Given the description of an element on the screen output the (x, y) to click on. 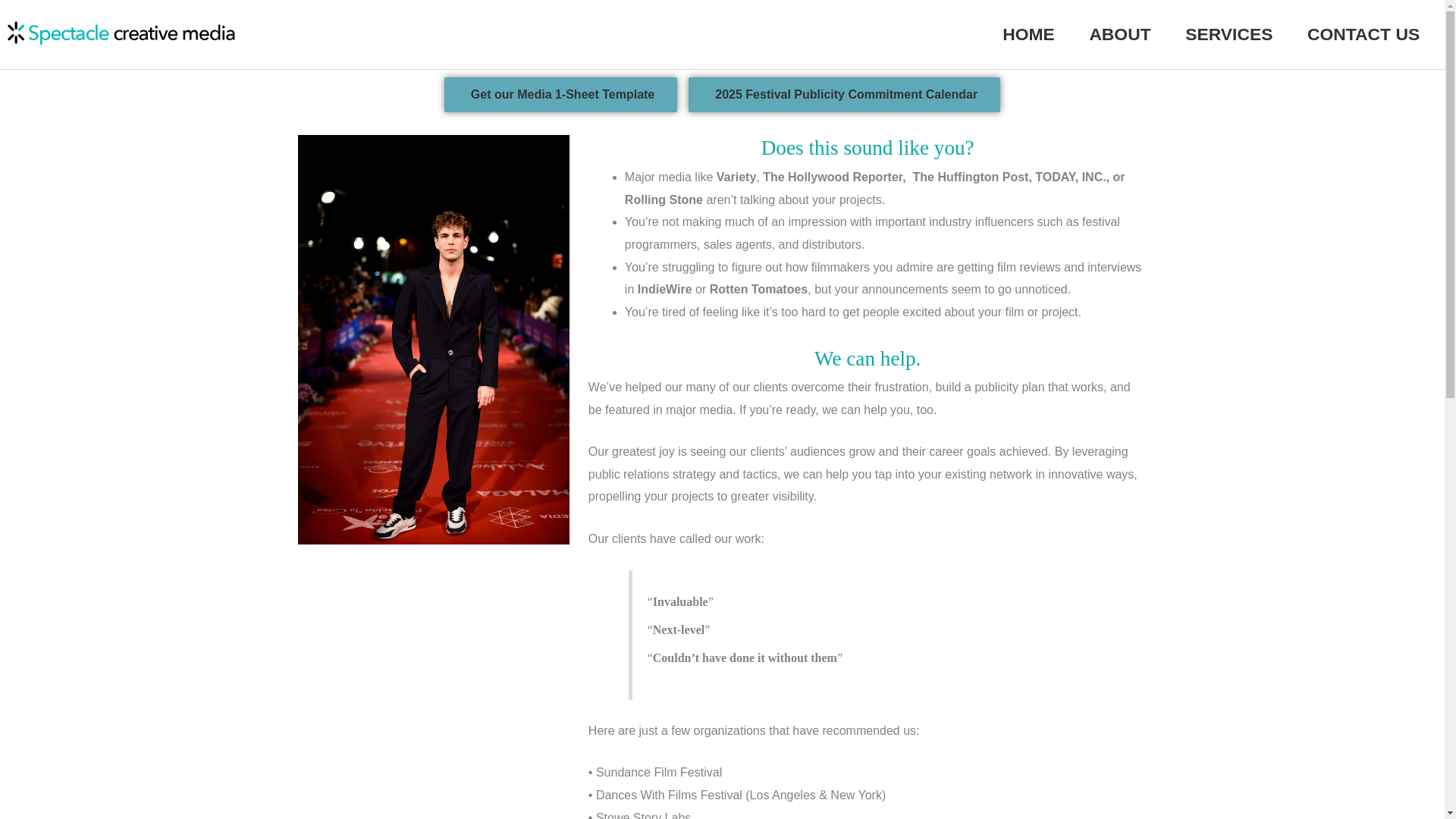
ABOUT (1120, 34)
2025 Festival Publicity Commitment Calendar (844, 94)
SERVICES (1228, 34)
HOME (1028, 34)
CONTACT US (1363, 34)
Get our Media 1-Sheet Template (560, 94)
